Given the description of an element on the screen output the (x, y) to click on. 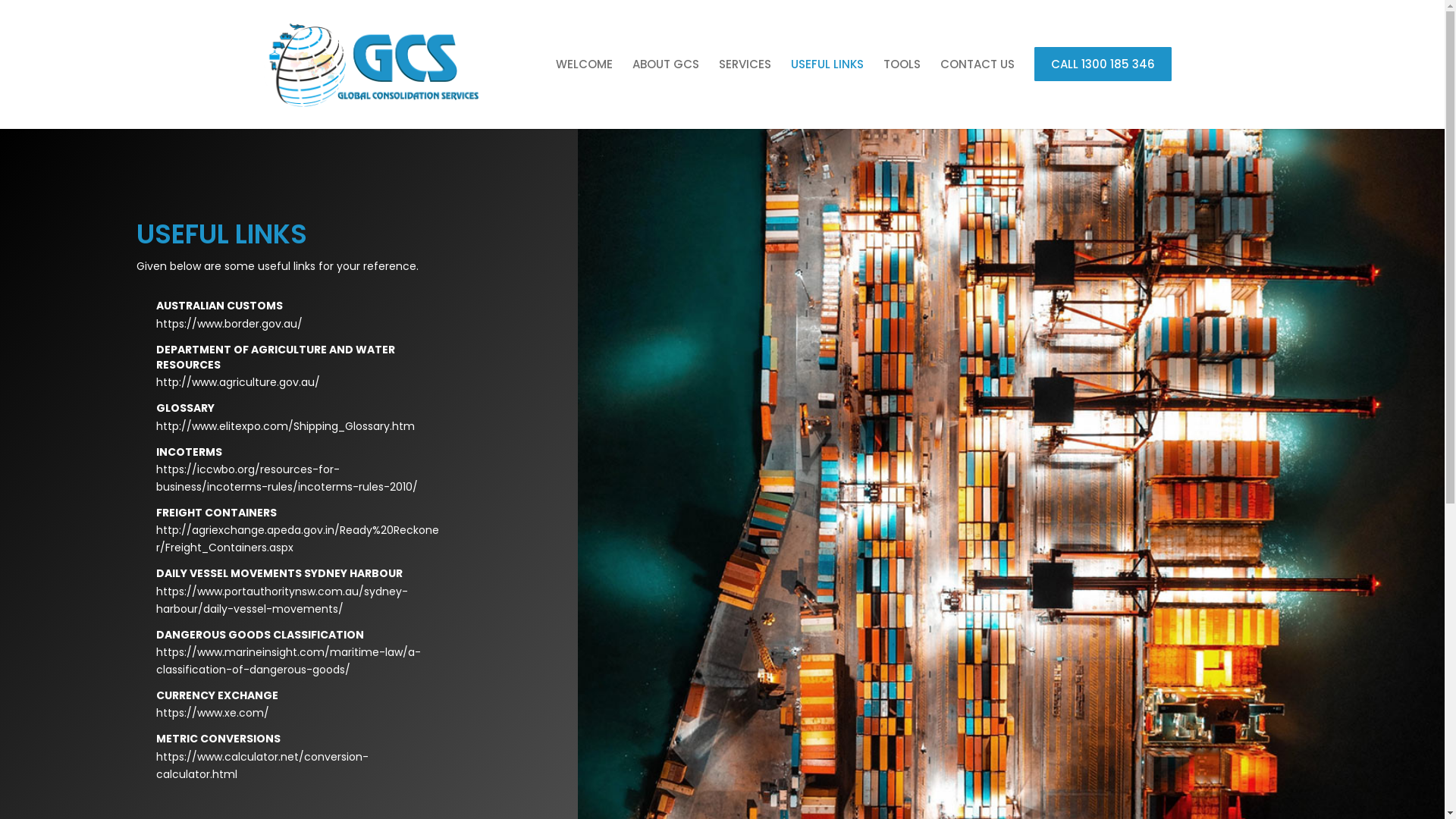
WELCOME Element type: text (584, 64)
https://www.border.gov.au/ Element type: text (229, 323)
http://www.agriculture.gov.au/ Element type: text (238, 381)
https://www.xe.com/ Element type: text (212, 712)
https://www.calculator.net/conversion-calculator.html Element type: text (262, 765)
CALL 1300 185 346 Element type: text (1101, 64)
CONTACT US Element type: text (976, 64)
ABOUT GCS Element type: text (664, 64)
TOOLS Element type: text (901, 64)
http://www.elitexpo.com/Shipping_Glossary.htm Element type: text (285, 425)
SERVICES Element type: text (744, 64)
USEFUL LINKS Element type: text (827, 64)
